Given the description of an element on the screen output the (x, y) to click on. 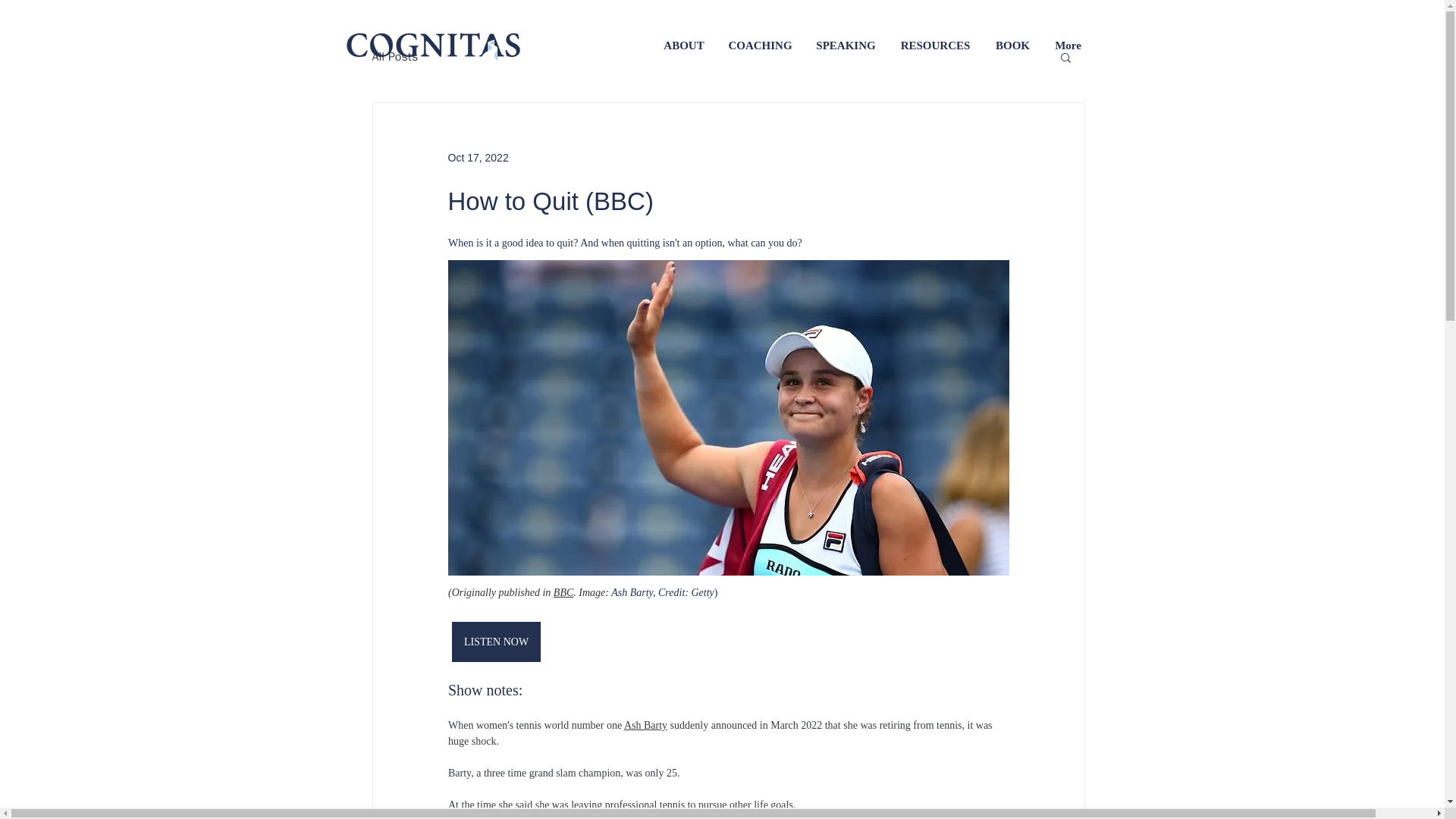
LISTEN NOW (495, 641)
All Posts (394, 56)
BBC (562, 592)
SPEAKING (844, 45)
Oct 17, 2022 (477, 157)
BOOK (1012, 45)
ABOUT (684, 45)
Ash Barty (644, 725)
COACHING (759, 45)
